Given the description of an element on the screen output the (x, y) to click on. 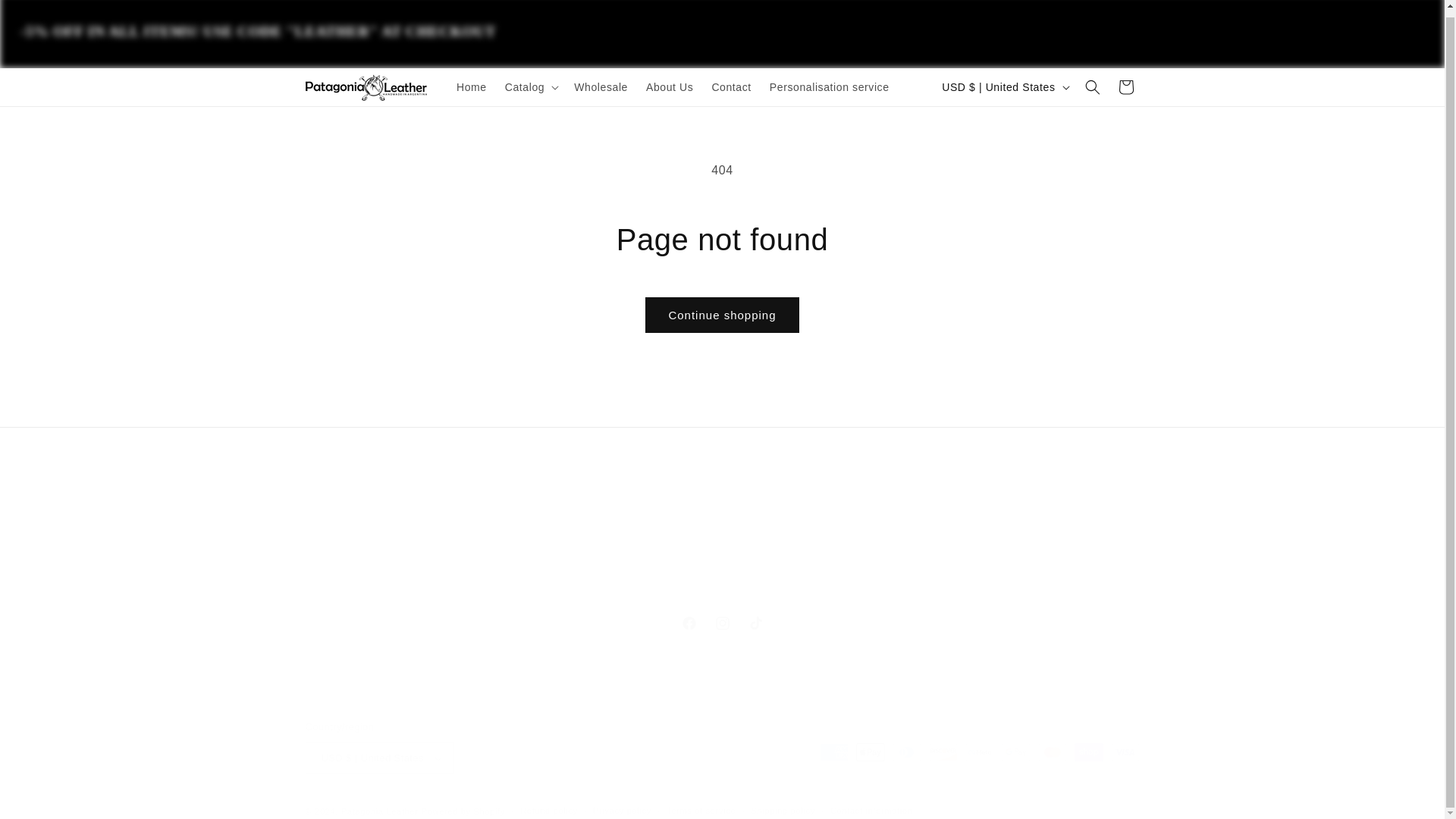
Skip to content (45, 14)
